Given the description of an element on the screen output the (x, y) to click on. 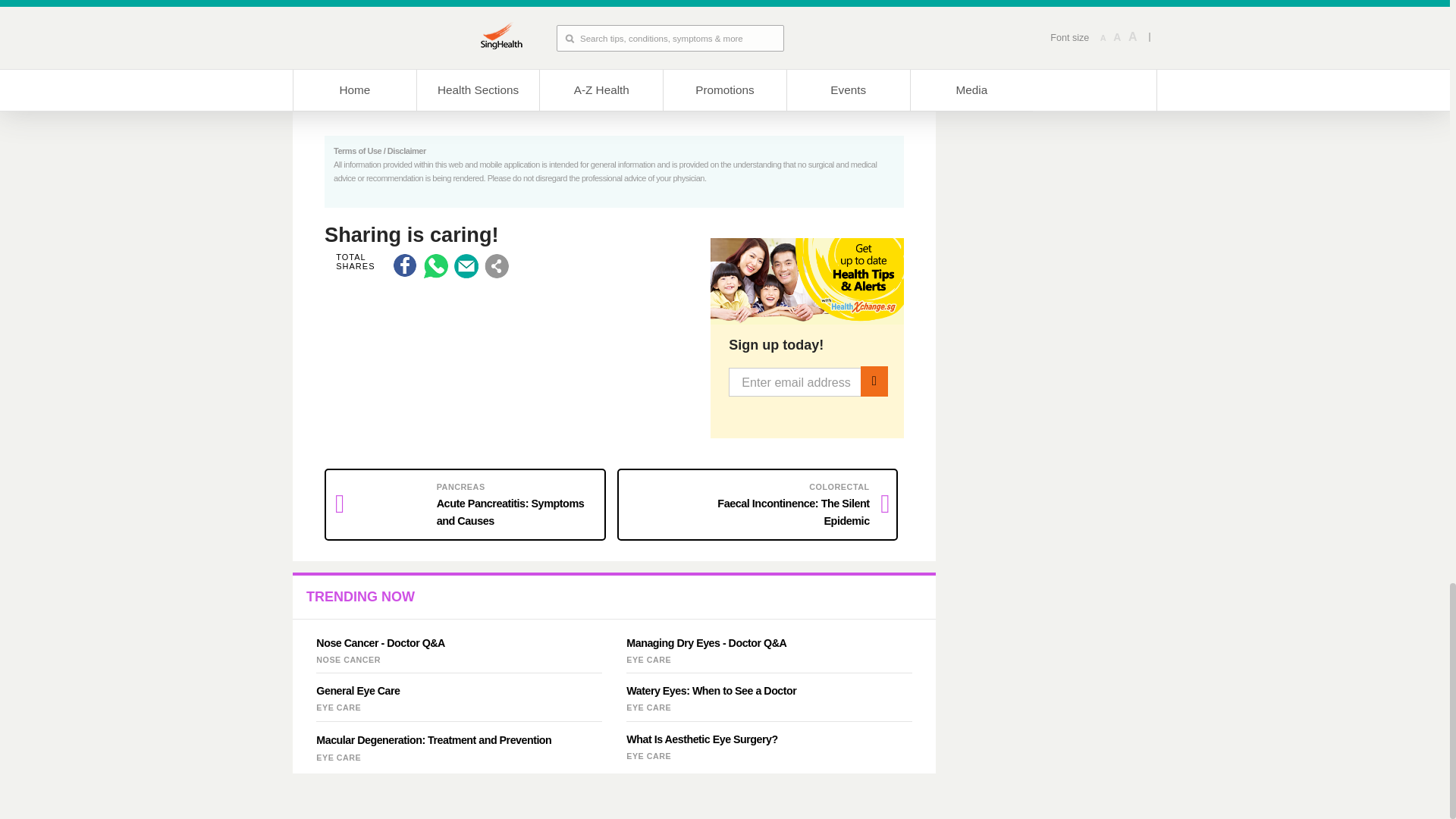
Email Us (466, 265)
Facebook (405, 265)
WhatsApp (435, 265)
Share this Page (496, 265)
